Given the description of an element on the screen output the (x, y) to click on. 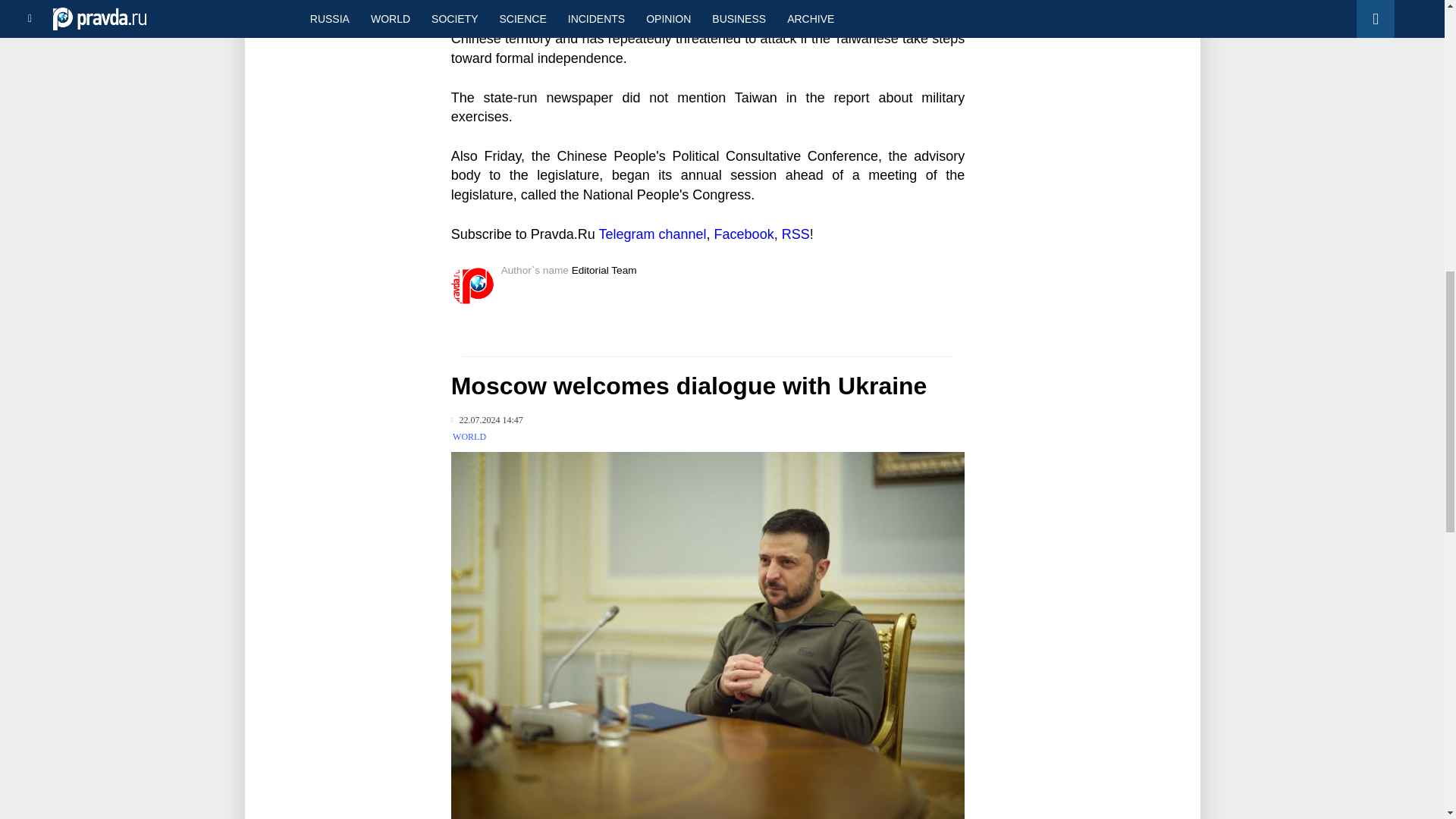
WORLD (469, 436)
Facebook (744, 233)
Back to top (1418, 79)
RSS (795, 233)
Telegram channel (652, 233)
Published (486, 419)
Editorial Team (604, 270)
